Given the description of an element on the screen output the (x, y) to click on. 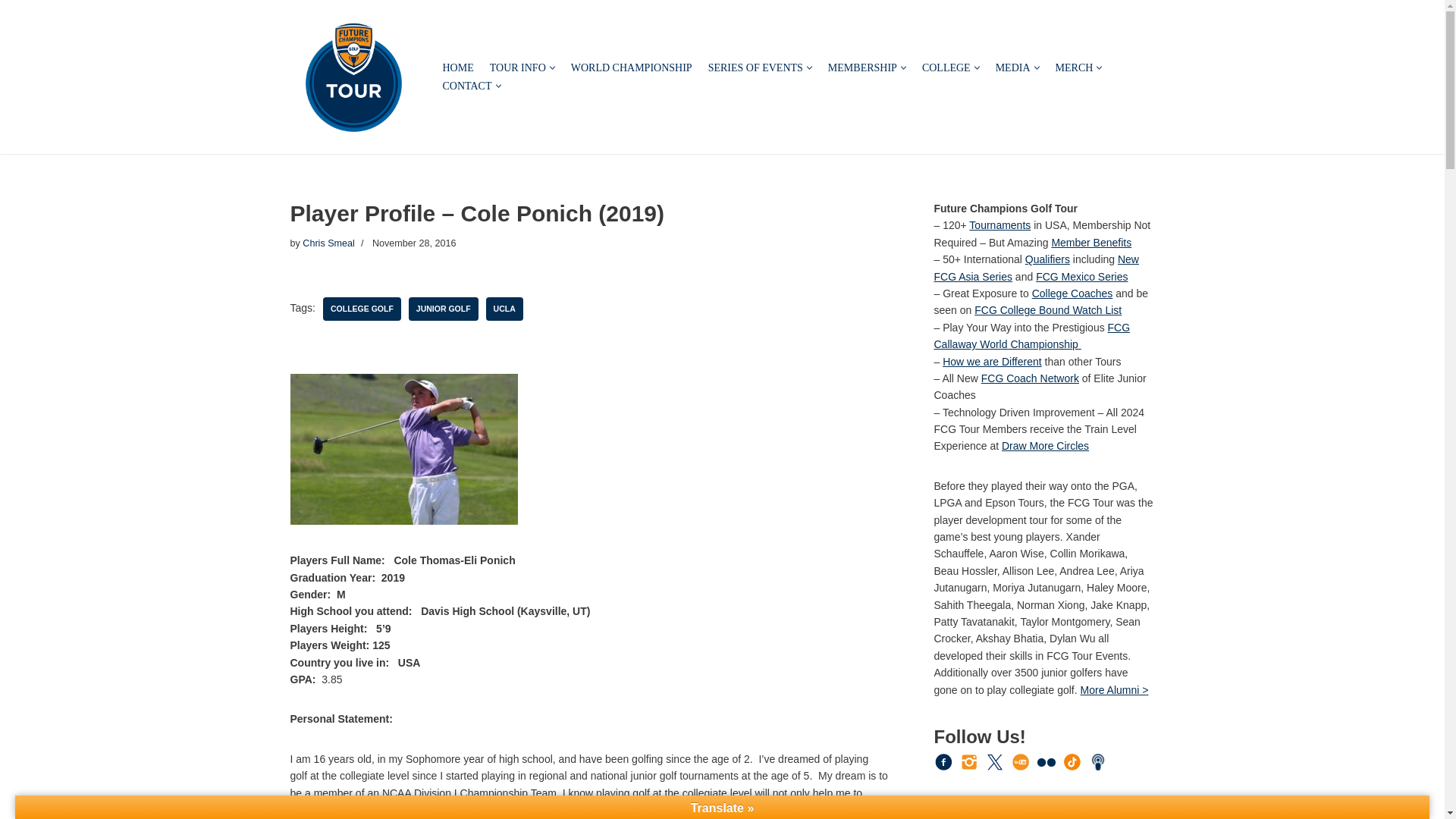
College Golf (362, 309)
Follow Us on Flickr (1045, 762)
Junior Golf (444, 309)
Follow Us on Facebook (943, 761)
Posts by Chris Smeal (328, 243)
Follow Us on X (994, 761)
HOME (458, 67)
UCLA (504, 309)
Follow Us on YouTube (1020, 761)
Follow Us on Instagram (968, 761)
TOUR INFO (517, 67)
Skip to content (11, 31)
Follow Us on TikTok (1071, 761)
Follow Us on Podcasts (1097, 761)
